Given the description of an element on the screen output the (x, y) to click on. 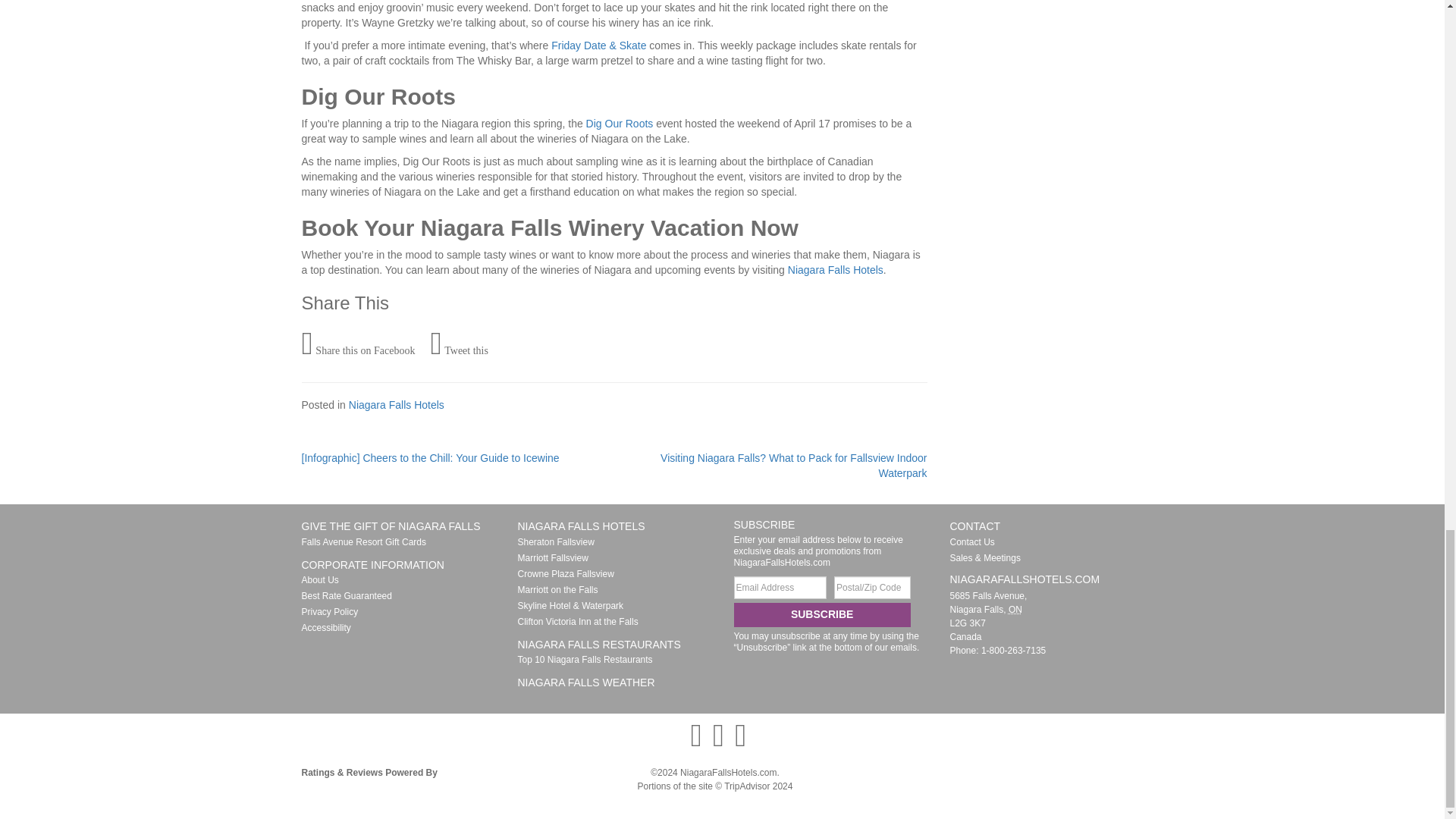
Share this post on Facebook (357, 343)
Share this post on Twitter (458, 343)
Ontario (1015, 609)
